Given the description of an element on the screen output the (x, y) to click on. 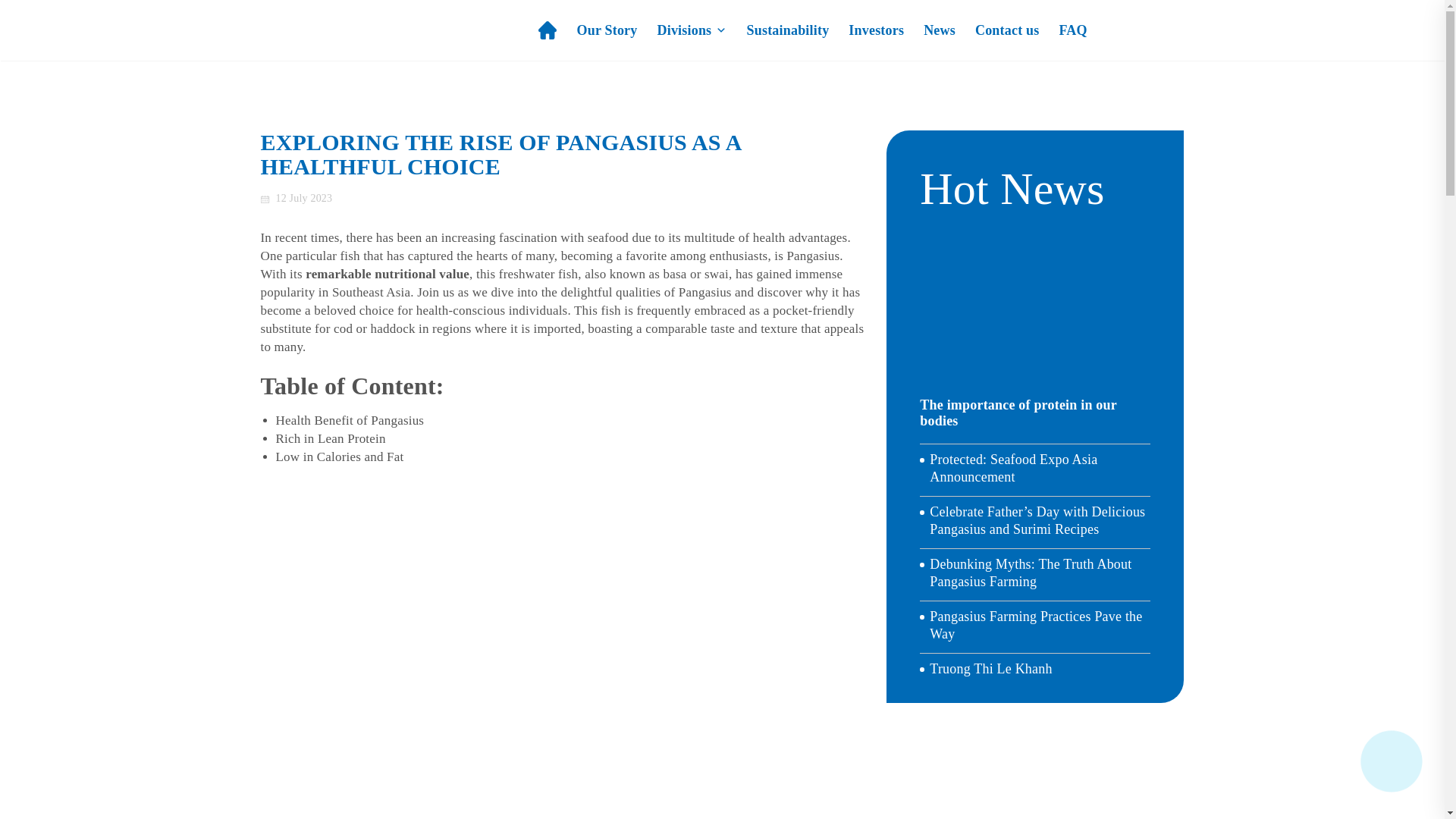
Contact us (1007, 30)
Divisions (691, 30)
Our Story (606, 30)
Investors (876, 30)
Sustainability (787, 30)
